Given the description of an element on the screen output the (x, y) to click on. 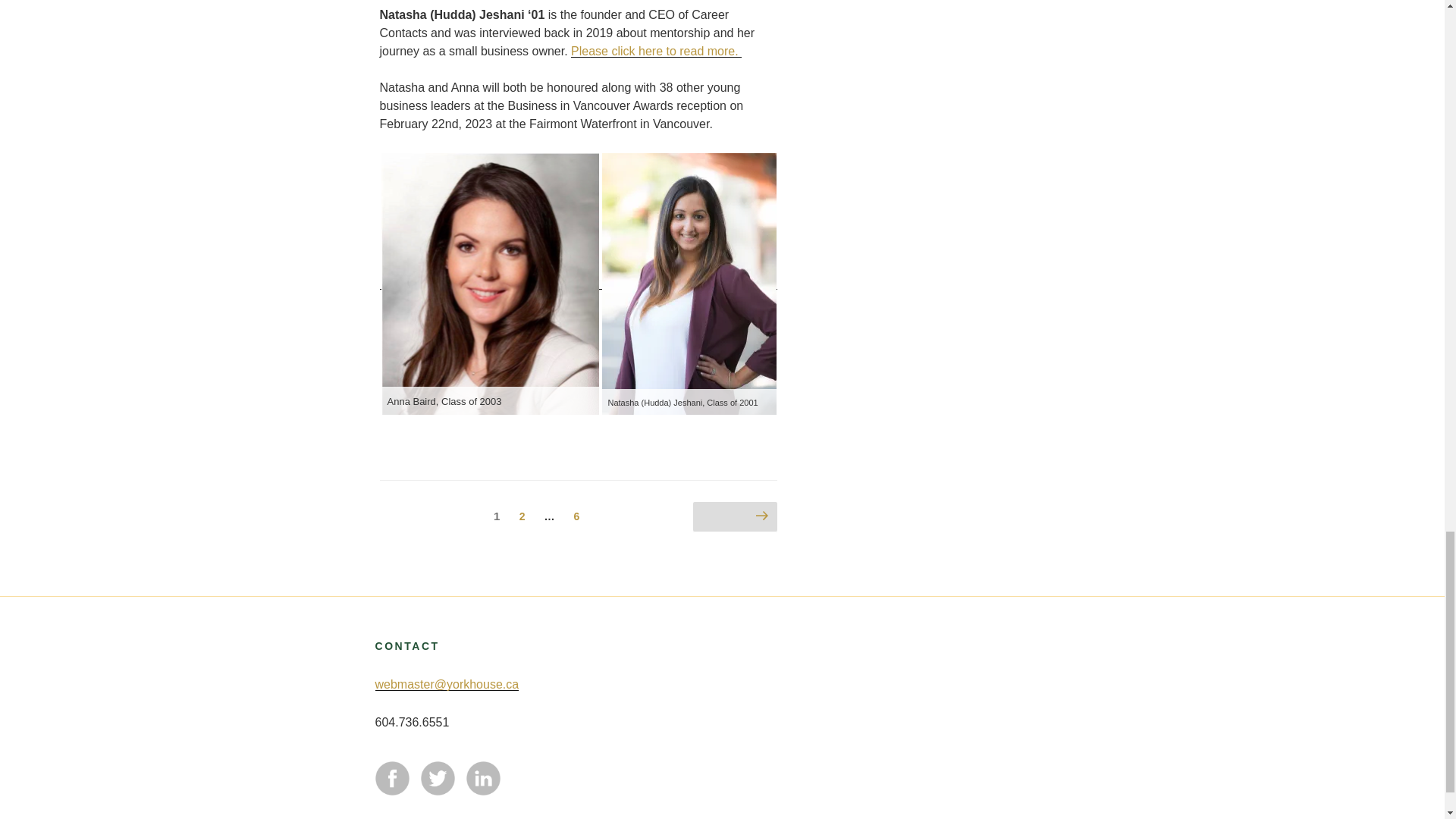
Please click here to read more.  (655, 51)
Next page (735, 517)
